Given the description of an element on the screen output the (x, y) to click on. 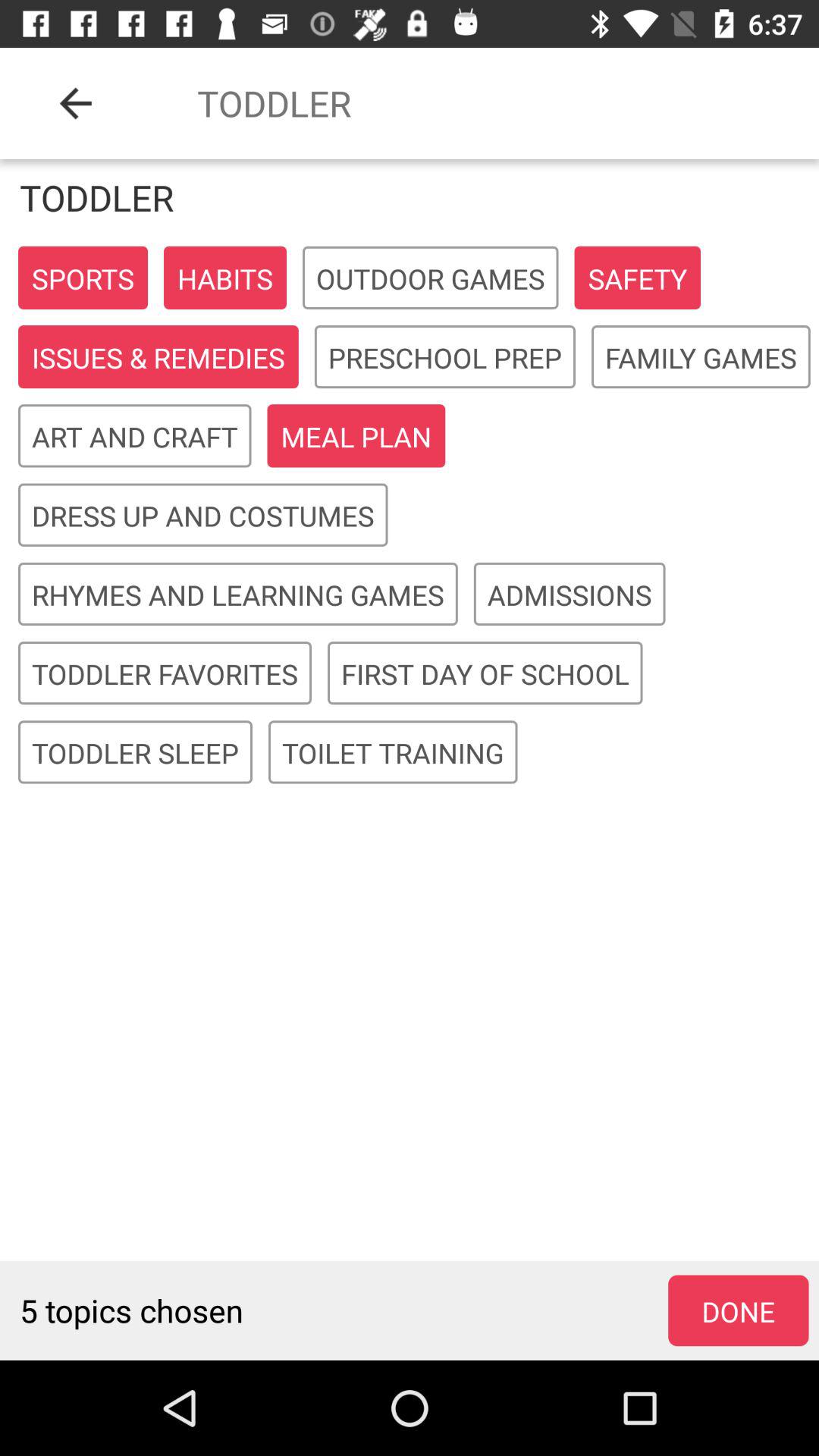
go back (75, 103)
